Given the description of an element on the screen output the (x, y) to click on. 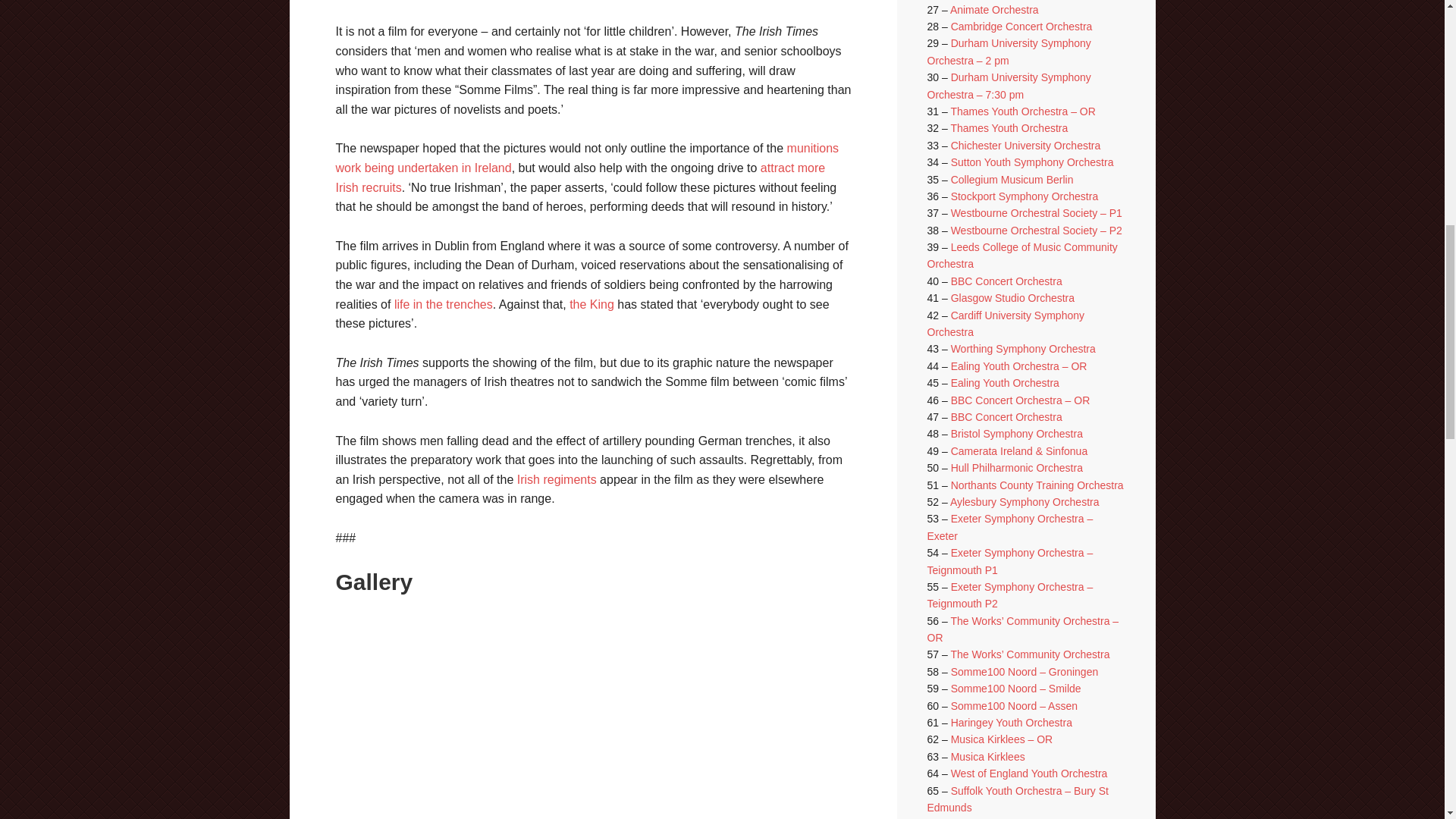
Somme Dublin 19.11.18 (439, 790)
Irish regiments (556, 479)
life in the trenches (443, 304)
Cx9Gnw6WEAApxd2 (452, 682)
the King (591, 304)
attract more Irish recruits (579, 177)
somme dublin flyer (599, 790)
munitions work being undertaken in Ireland (586, 157)
Dublin-Somme 19.11.16 (711, 682)
